Given the description of an element on the screen output the (x, y) to click on. 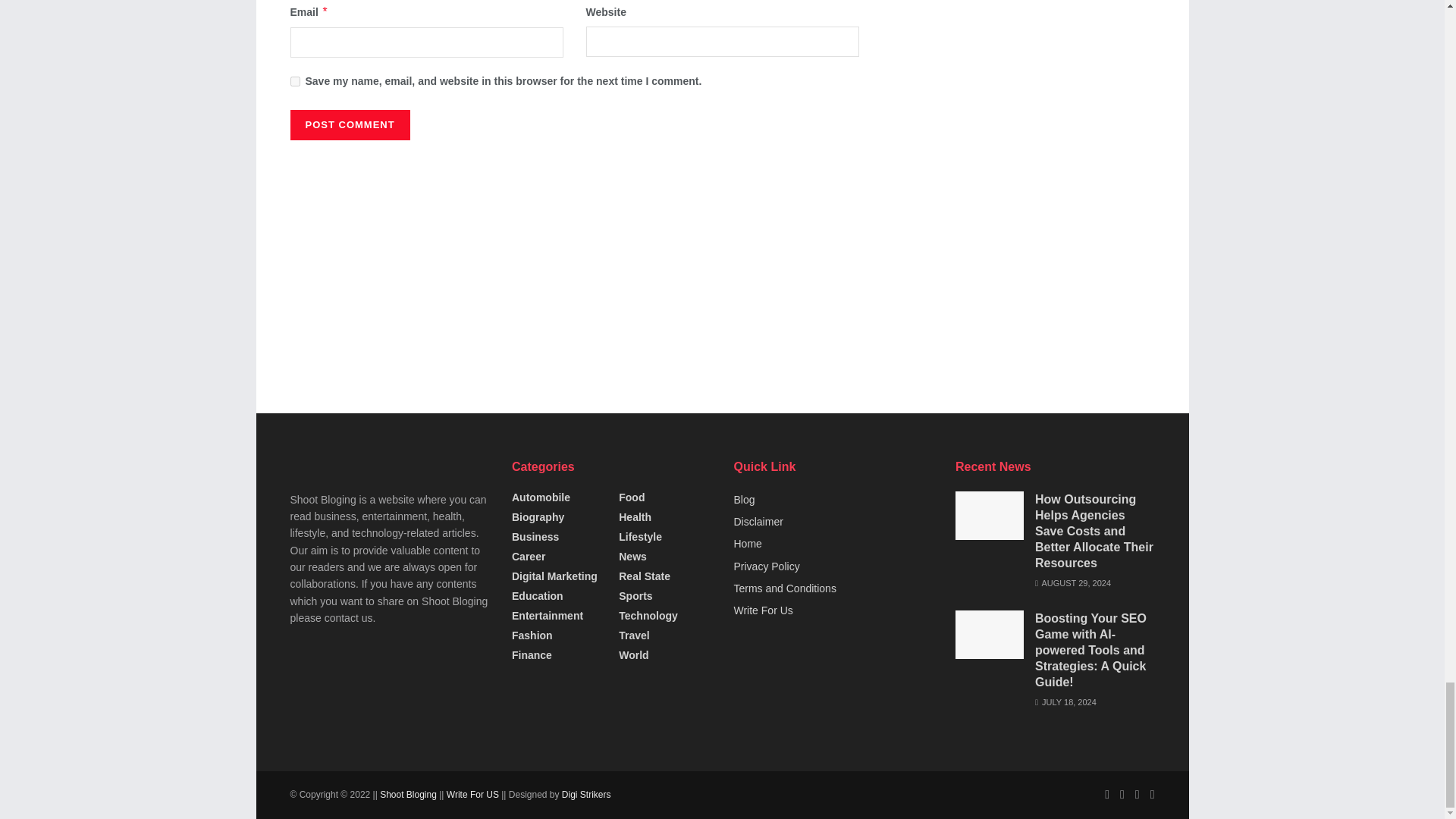
yes (294, 81)
Build Your Brand (586, 794)
Post Comment (349, 124)
